Given the description of an element on the screen output the (x, y) to click on. 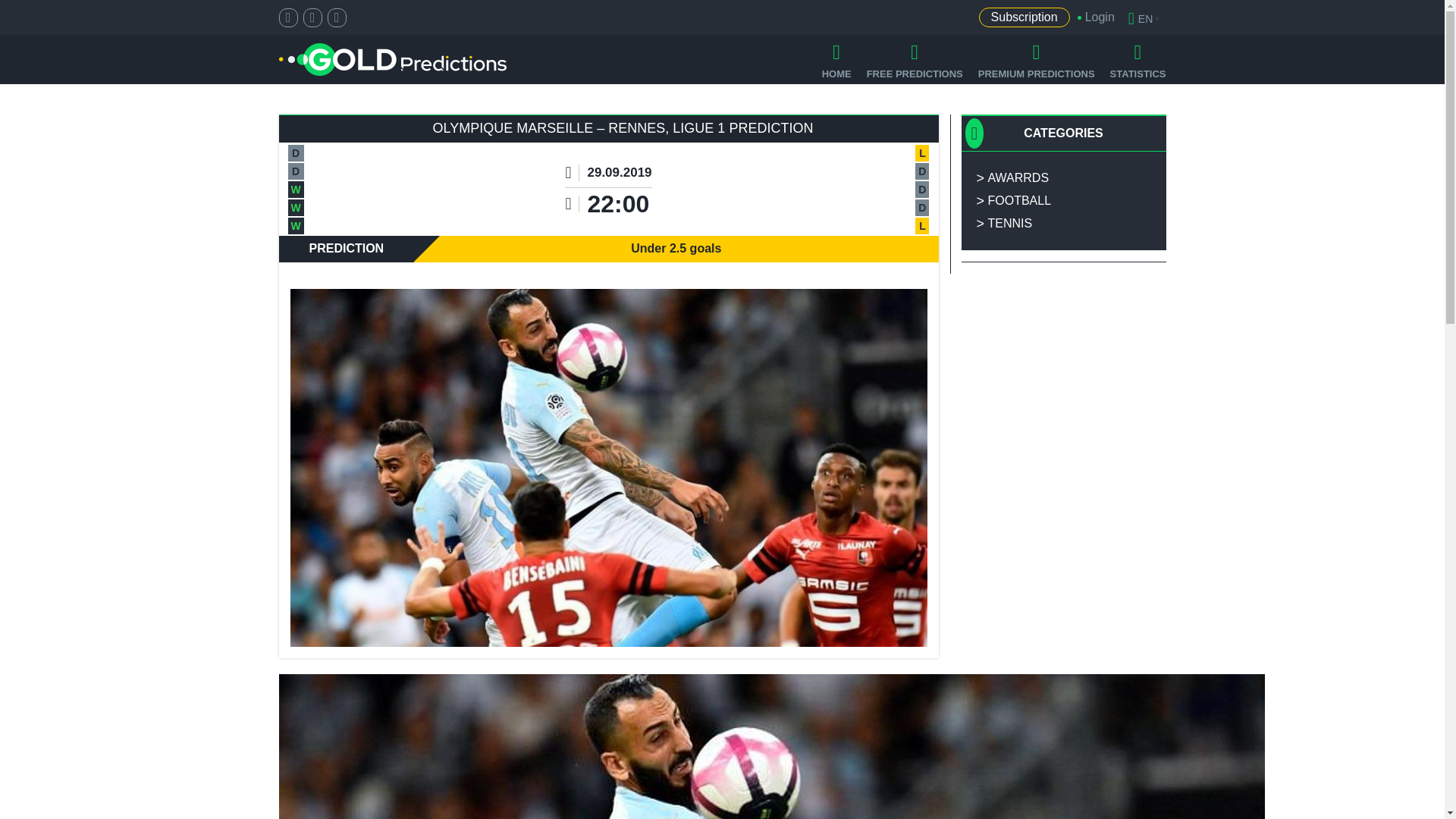
Subscription (1024, 17)
AWARRDS (1063, 178)
PREMIUM PREDICTIONS (1036, 59)
Login (1092, 17)
FREE PREDICTIONS (914, 59)
FOOTBALL (1063, 200)
STATISTICS (1137, 59)
TENNIS (1063, 223)
